Given the description of an element on the screen output the (x, y) to click on. 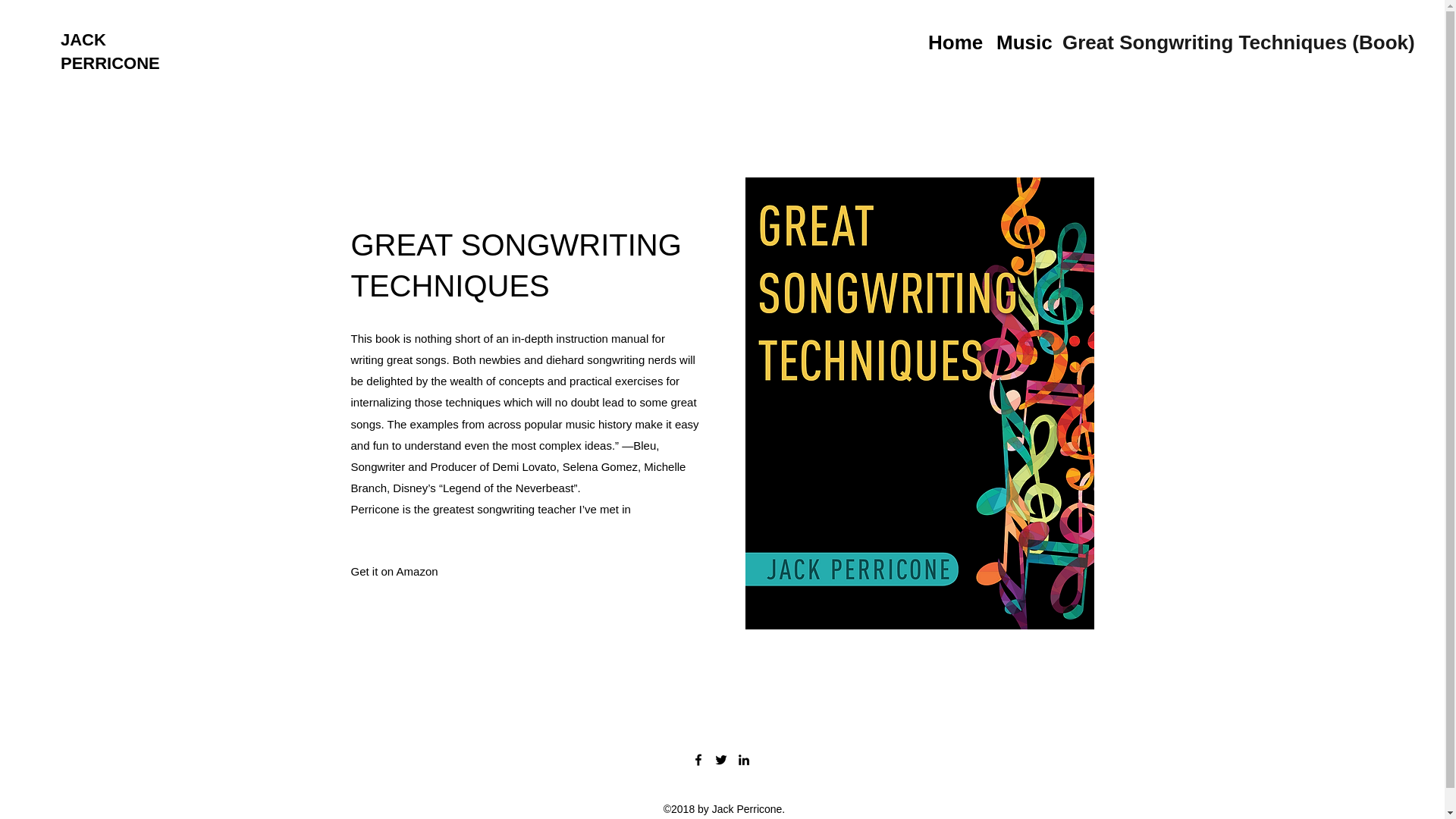
JACK PERRICONE (110, 51)
Home (954, 40)
Music (1021, 40)
Get it on Amazon (394, 571)
